Given the description of an element on the screen output the (x, y) to click on. 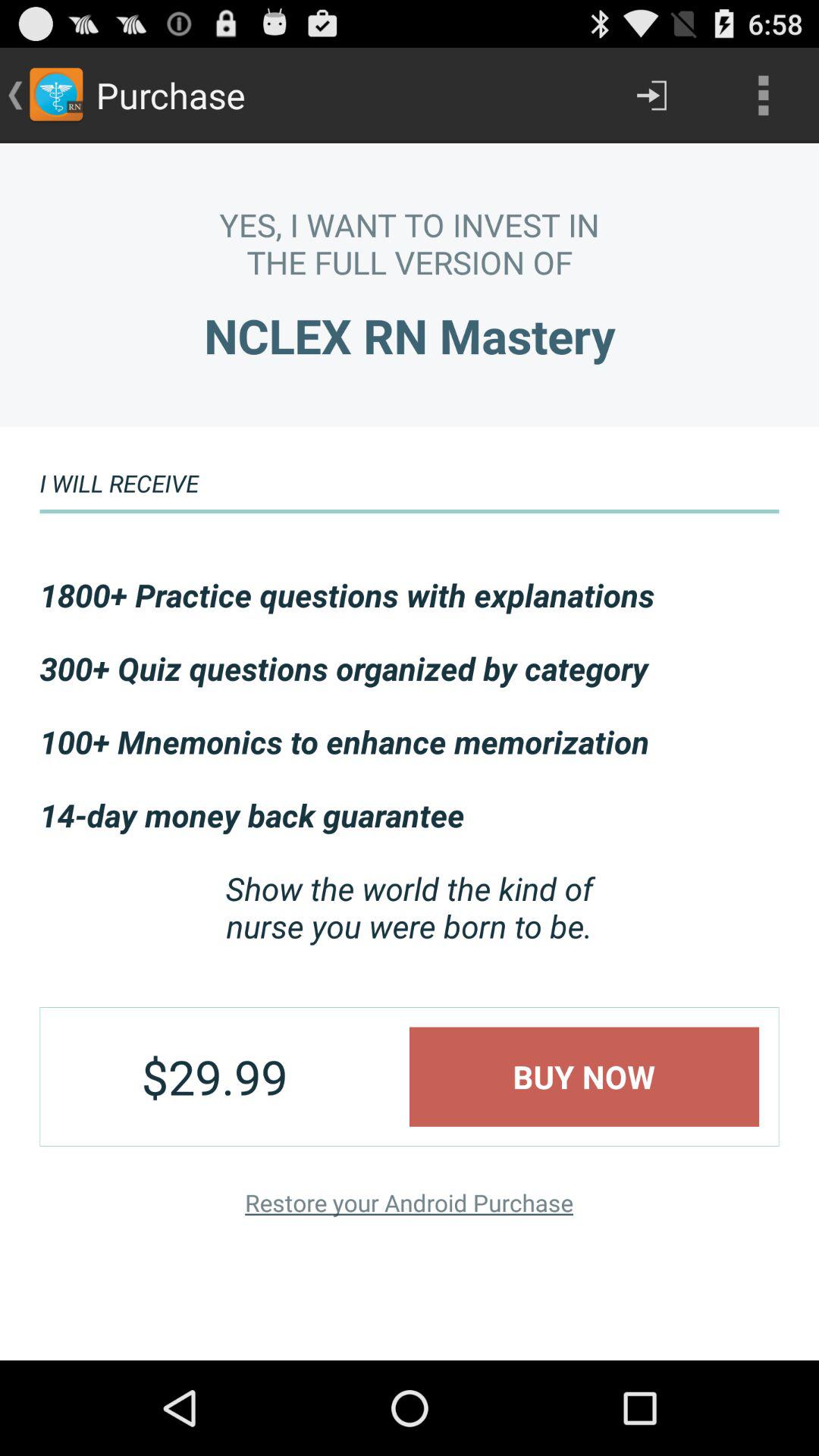
turn on the app above the yes i want app (763, 95)
